Given the description of an element on the screen output the (x, y) to click on. 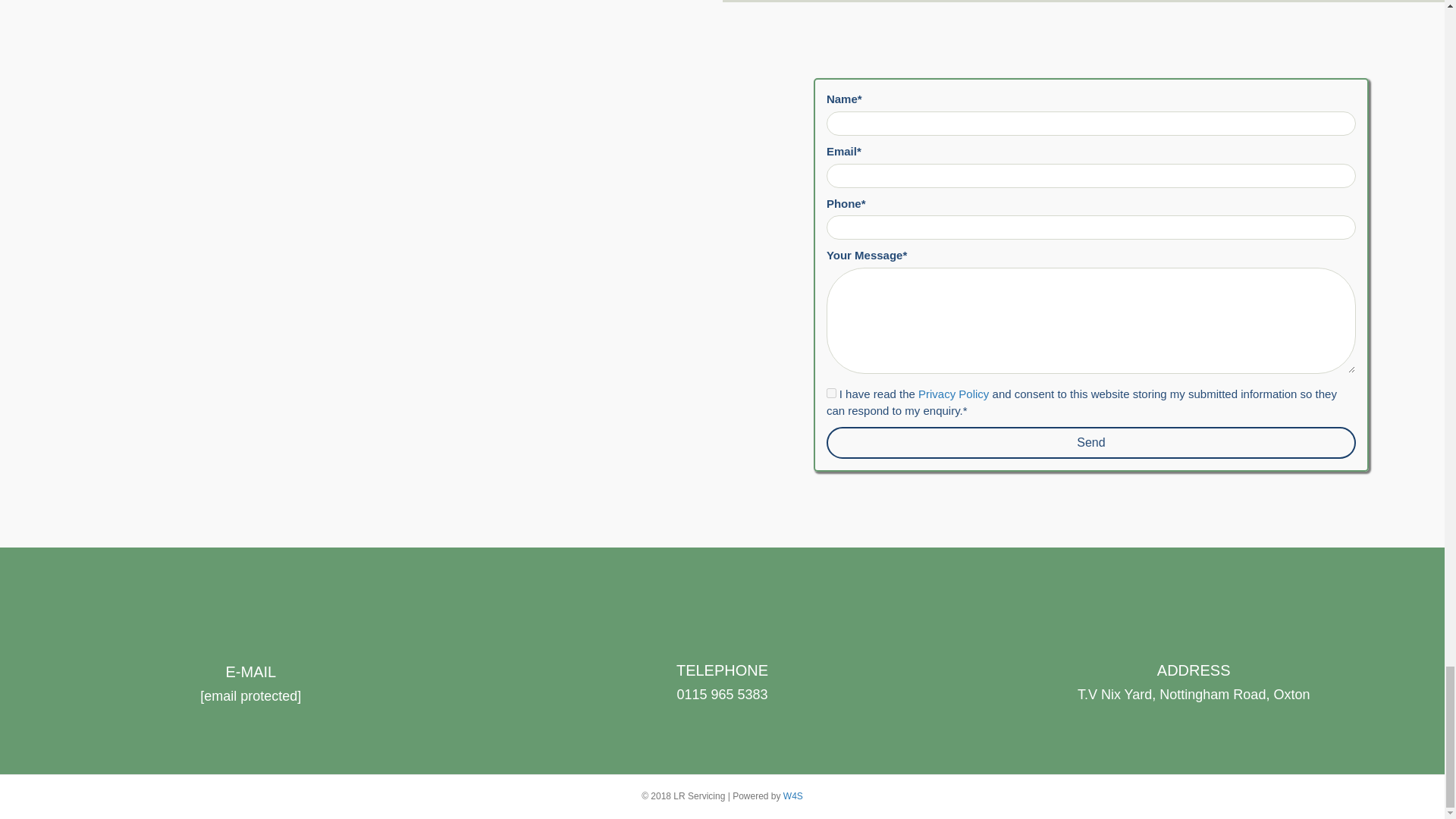
1 (831, 393)
